Given the description of an element on the screen output the (x, y) to click on. 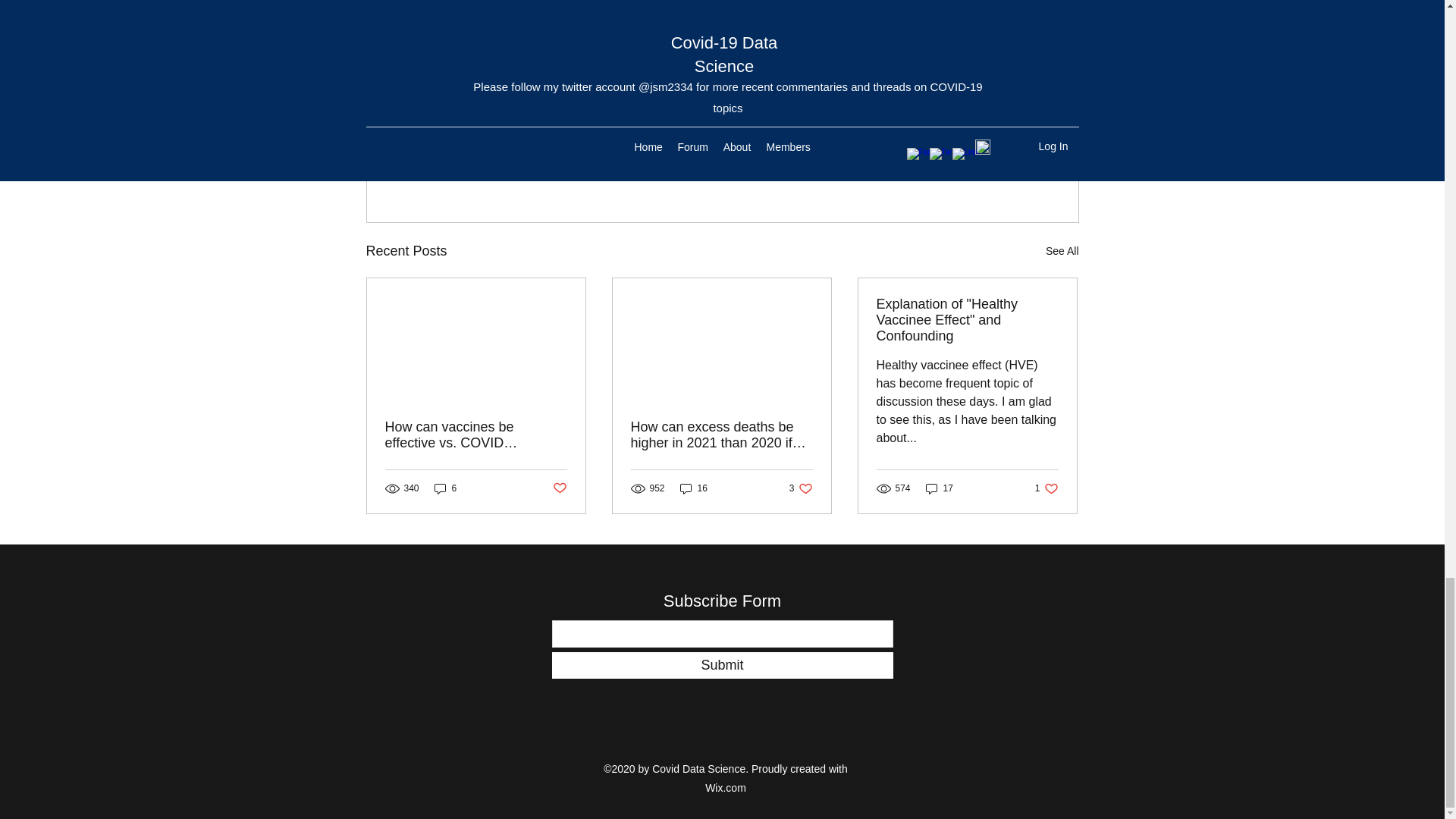
Post not marked as liked (800, 488)
Explanation of "Healthy Vaccinee Effect" and Confounding (558, 488)
16 (967, 319)
See All (693, 488)
17 (1061, 251)
6 (1046, 488)
